Given the description of an element on the screen output the (x, y) to click on. 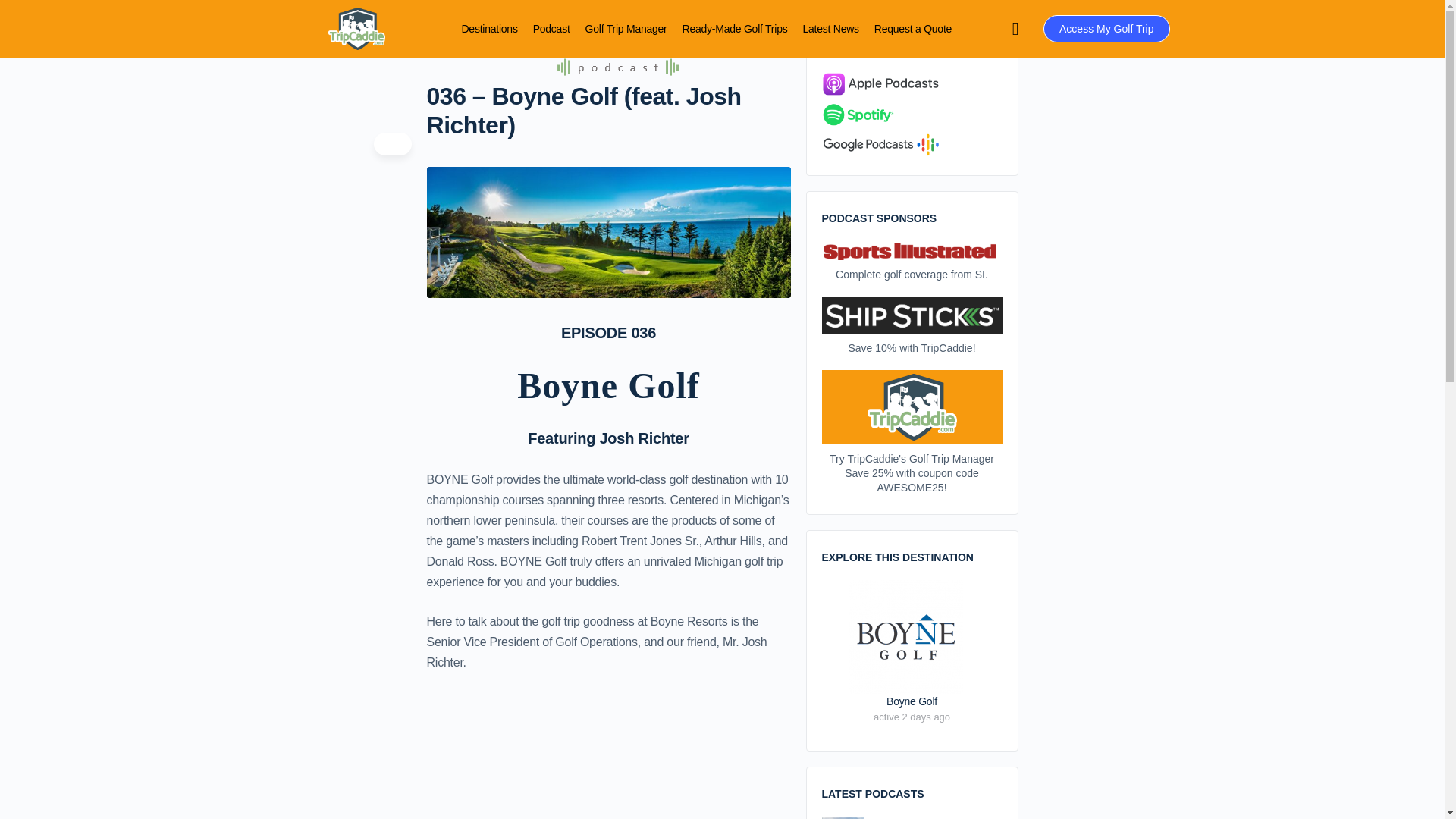
Request a Quote (913, 28)
Google Podcasts (880, 143)
Ready-Made Golf Trips (734, 28)
Destinations (488, 28)
Listen on Spotify (882, 117)
Apple Podcasts (880, 87)
Sports Illustrated (912, 250)
Golf Trip Manager (625, 28)
Access My Golf Trip (1106, 28)
Latest News (830, 28)
